Given the description of an element on the screen output the (x, y) to click on. 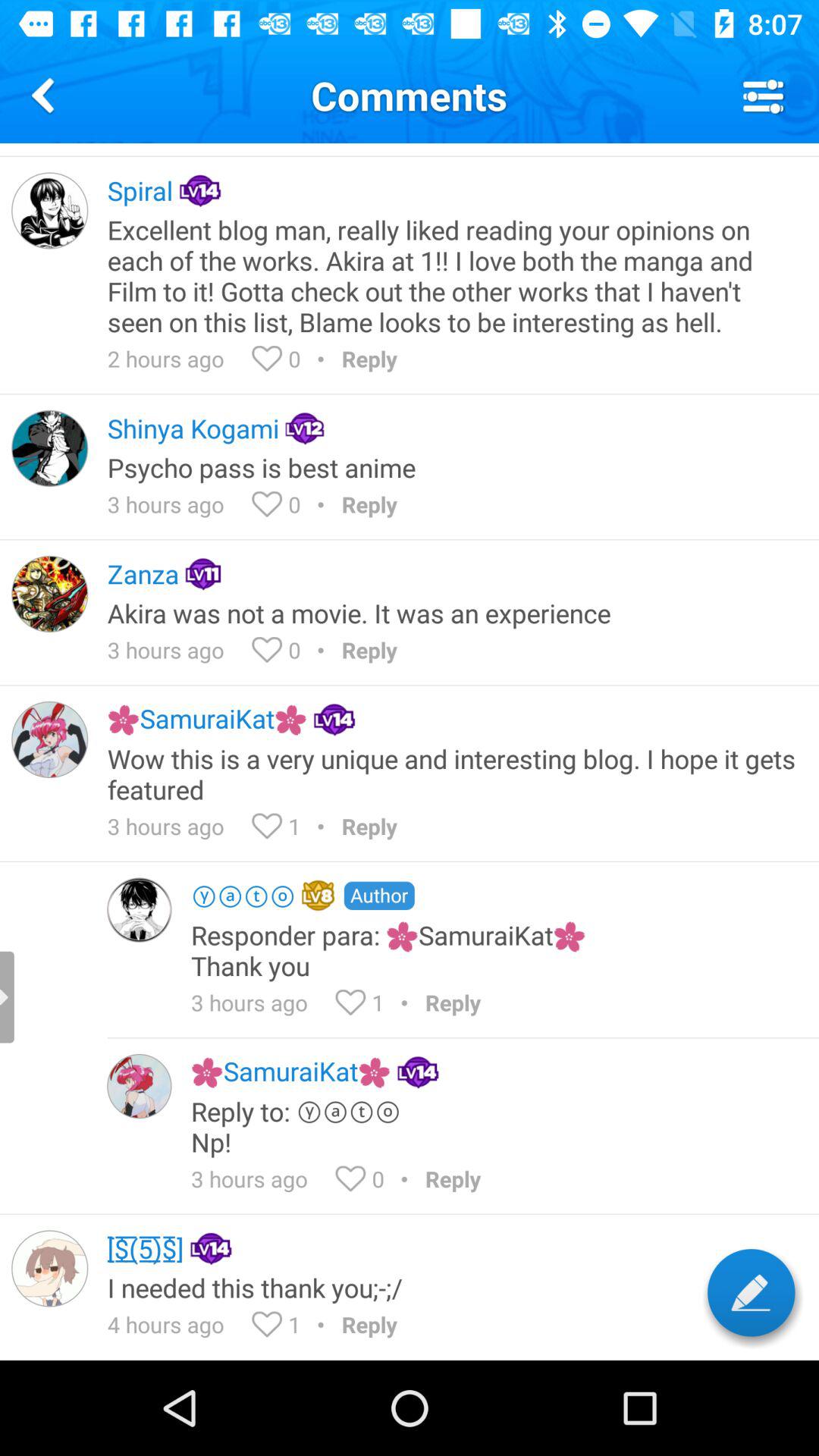
open icon to the left of comments item (45, 95)
